Given the description of an element on the screen output the (x, y) to click on. 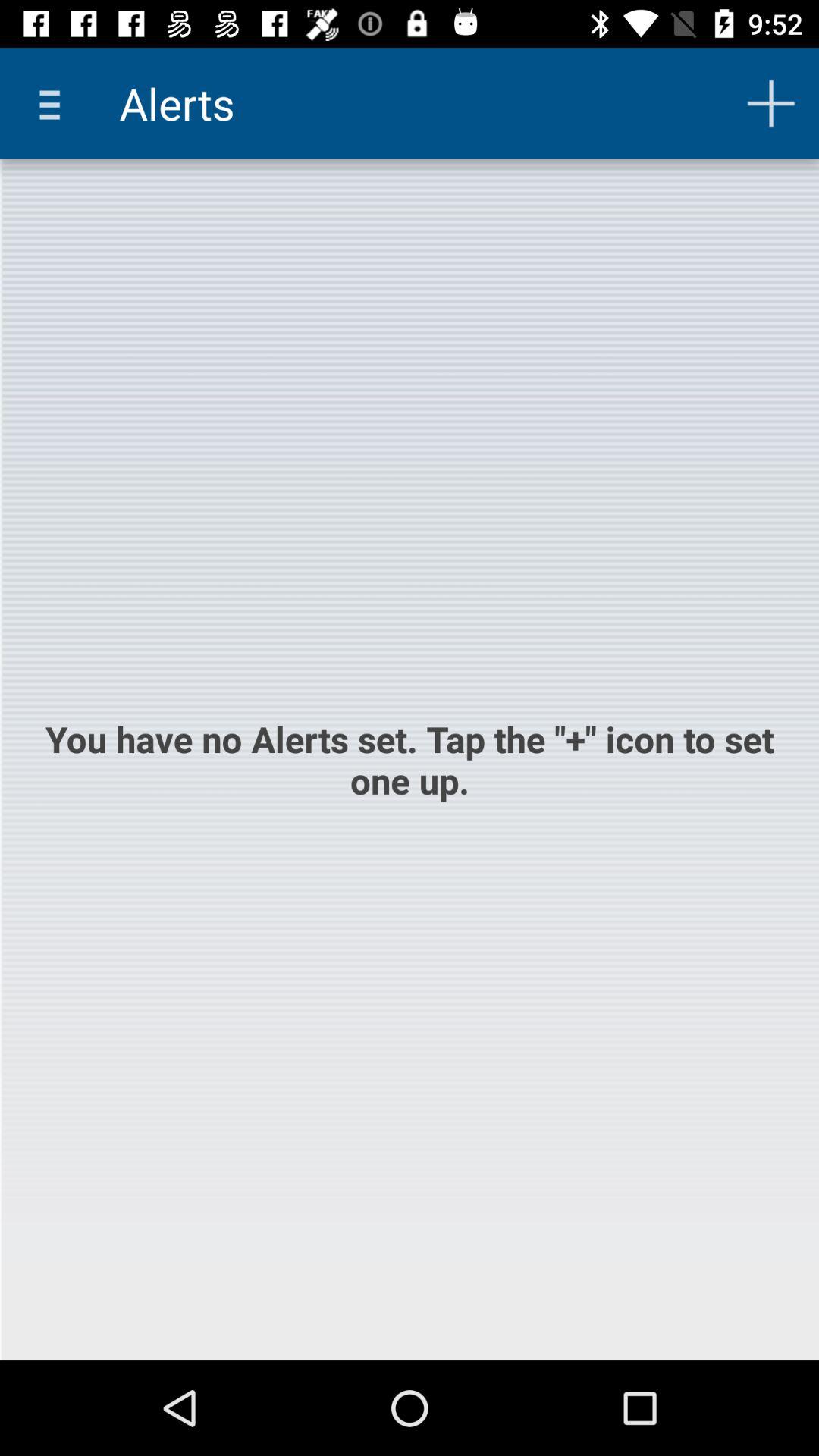
select icon above the you have no (55, 103)
